Given the description of an element on the screen output the (x, y) to click on. 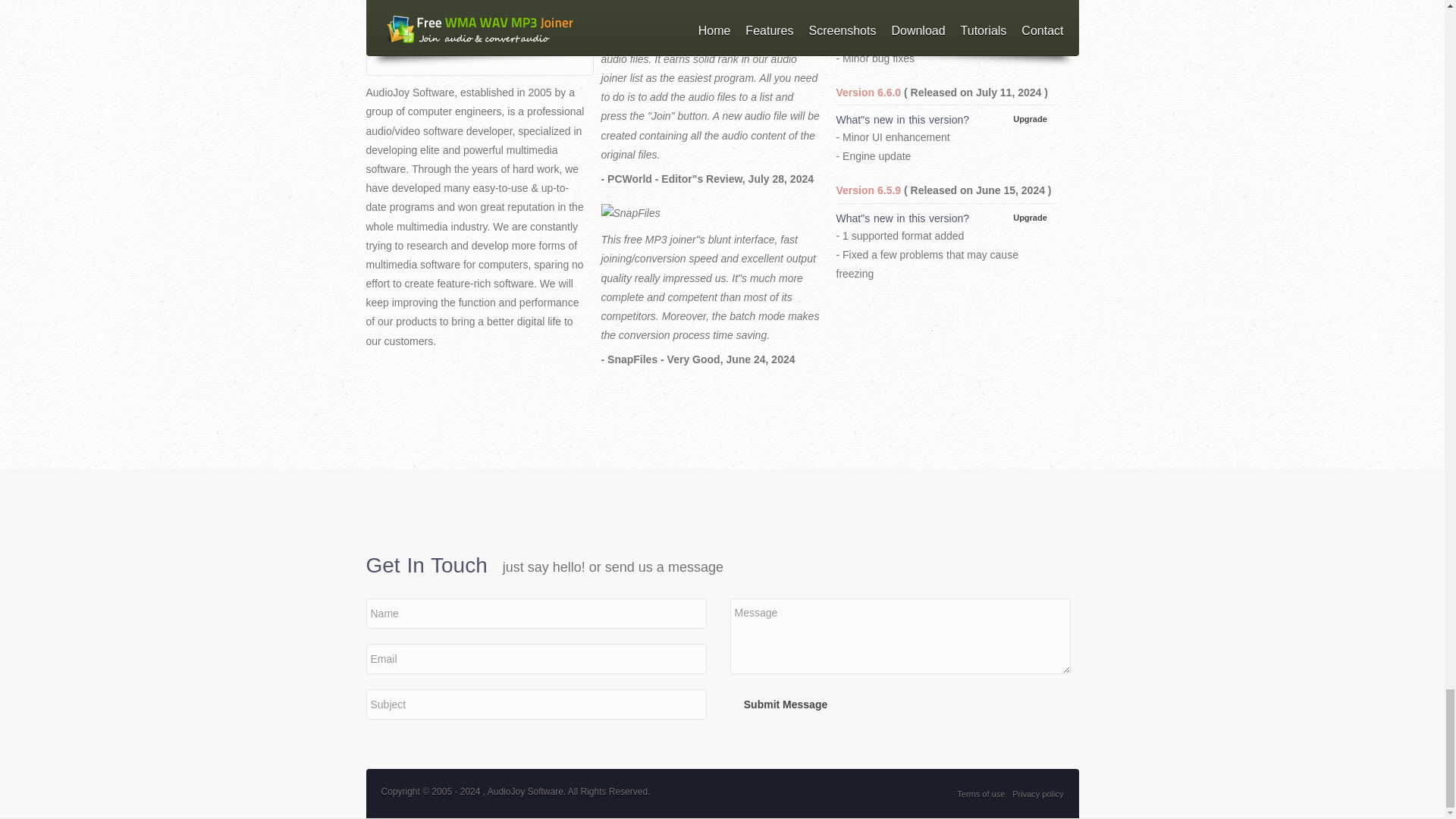
PCWorld (710, 2)
SnapFiles (710, 212)
